Given the description of an element on the screen output the (x, y) to click on. 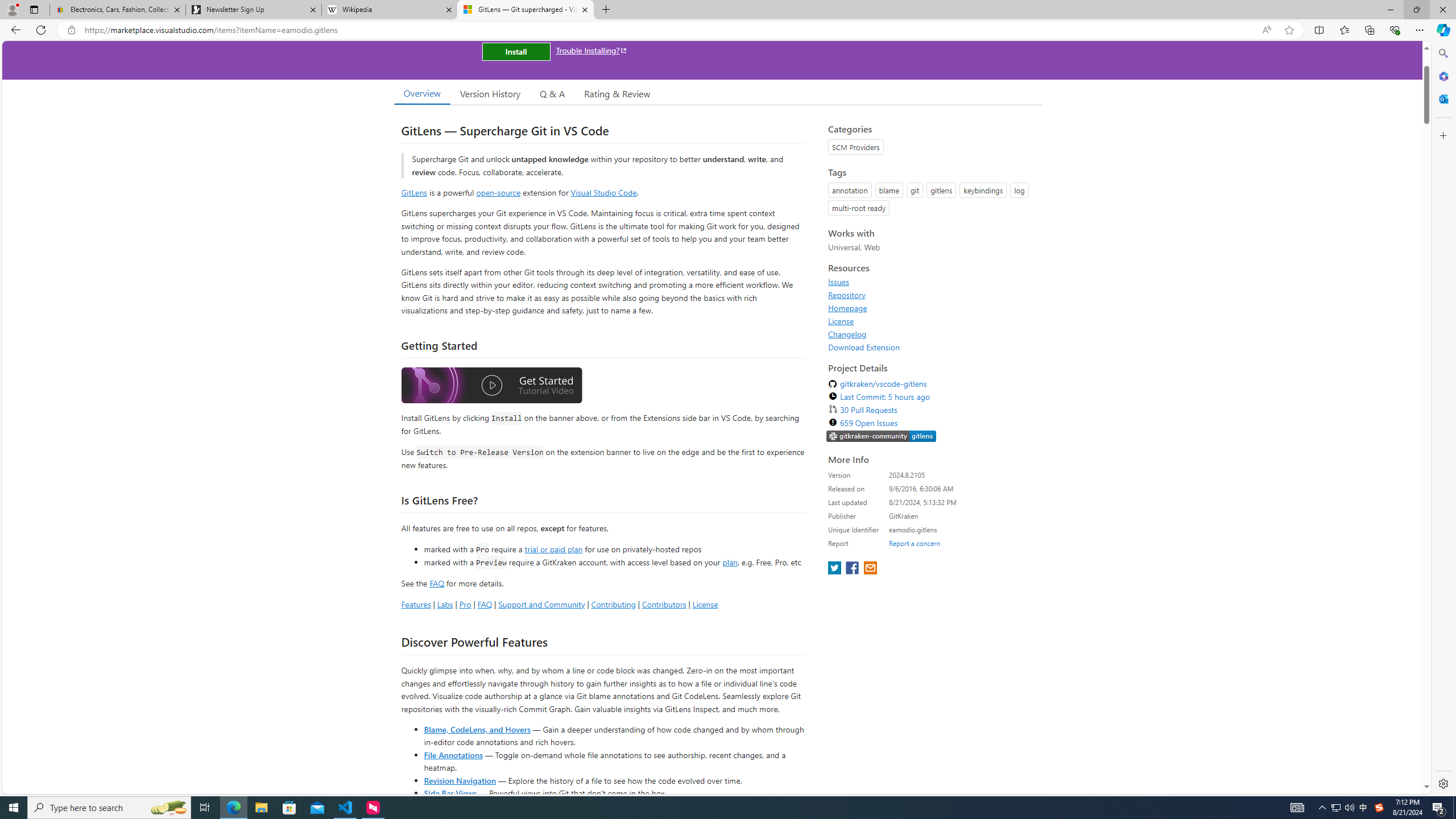
Pro (464, 603)
Changelog (931, 333)
share extension on email (869, 568)
Revision Navigation (459, 780)
Blame, CodeLens, and Hovers (476, 728)
Homepage (931, 307)
https://slack.gitkraken.com// (881, 436)
